Given the description of an element on the screen output the (x, y) to click on. 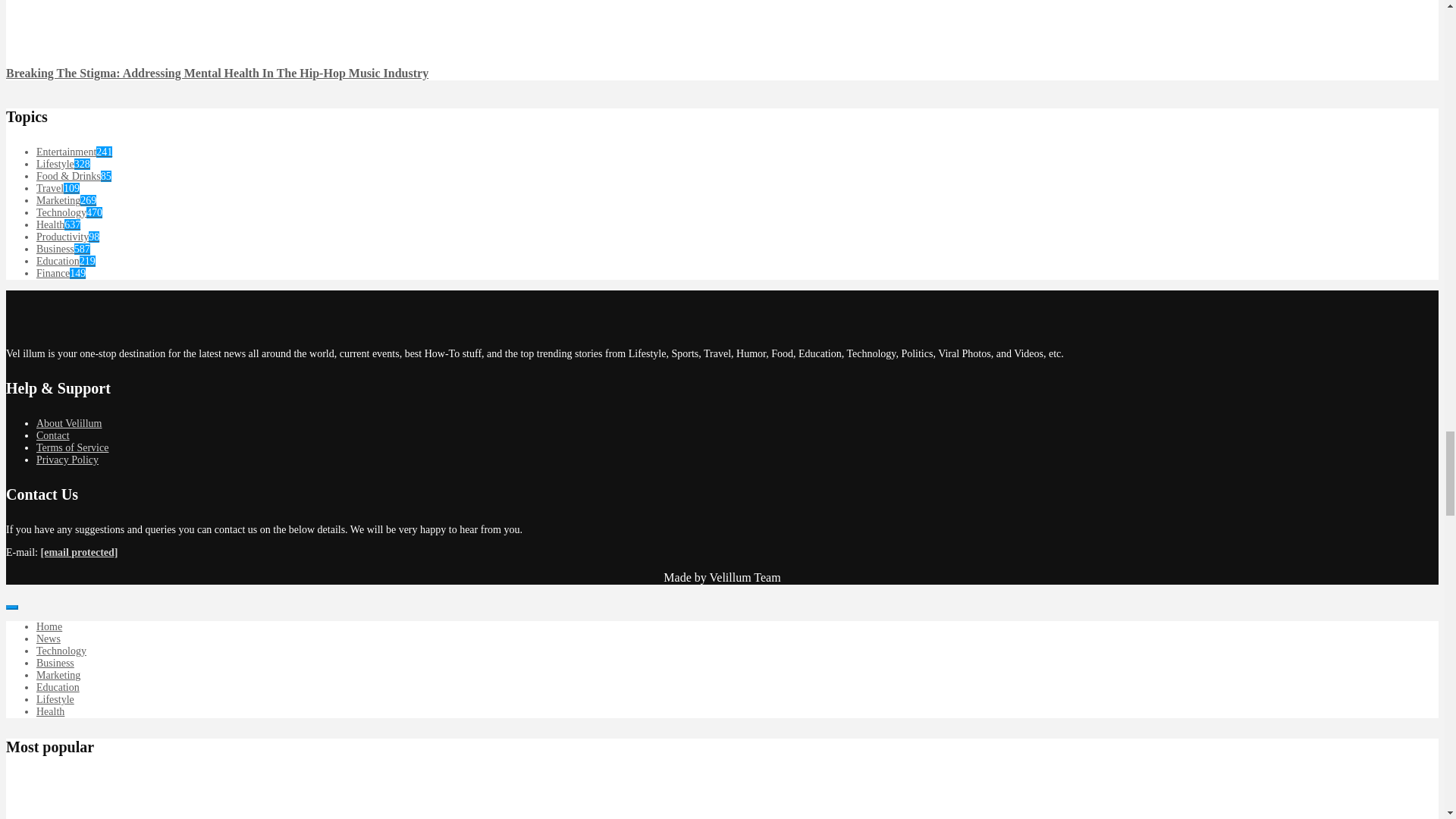
The Role of Design Patterns in Software Development (35, 815)
